Given the description of an element on the screen output the (x, y) to click on. 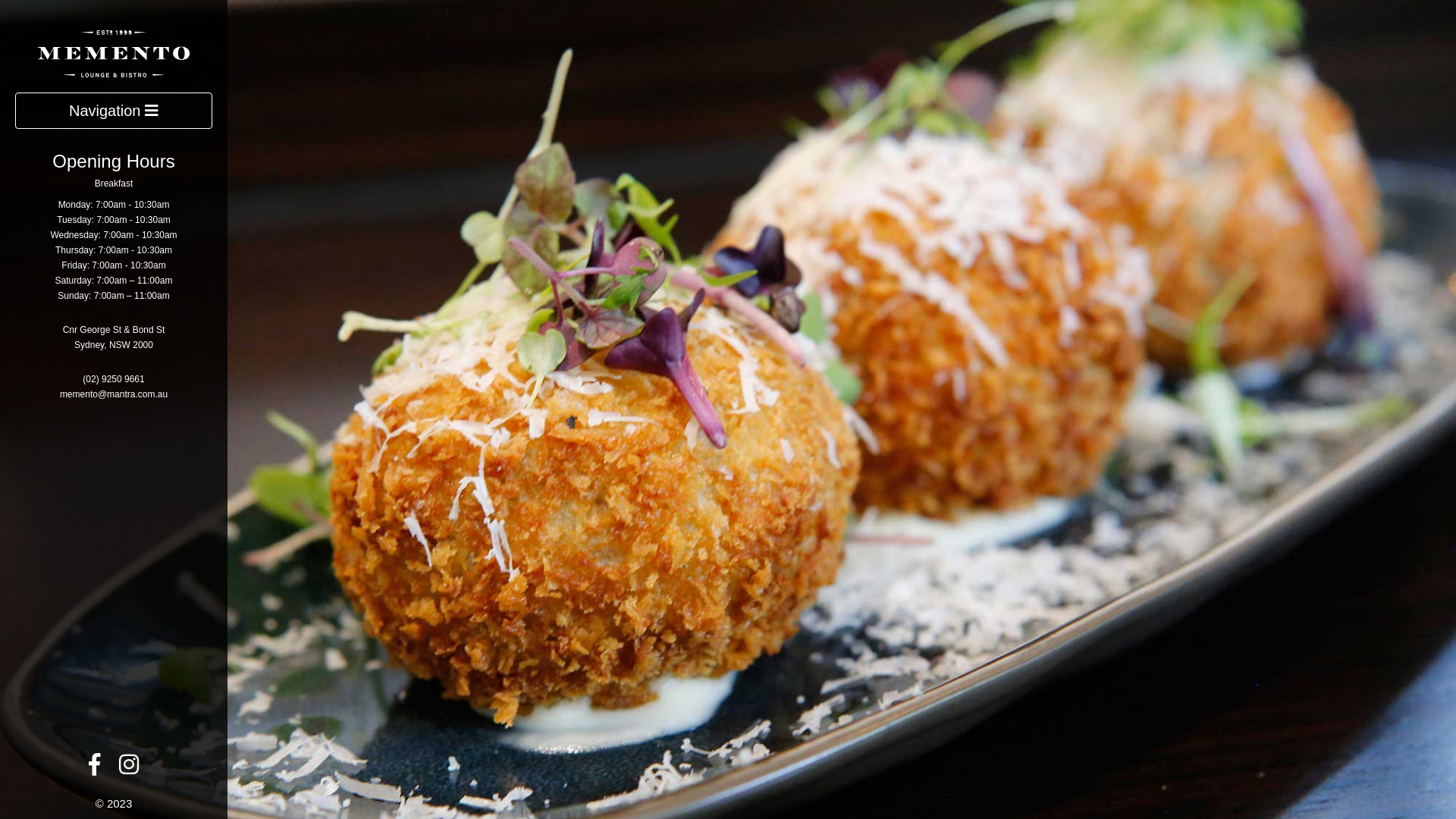
Facebook Element type: hover (94, 768)
memento@mantra.com.au Element type: text (113, 394)
Memento Lounge & Bistro Element type: hover (113, 52)
(02) 9250 9661 Element type: text (113, 378)
Navigation Element type: text (113, 110)
Instagram Element type: hover (128, 768)
